Given the description of an element on the screen output the (x, y) to click on. 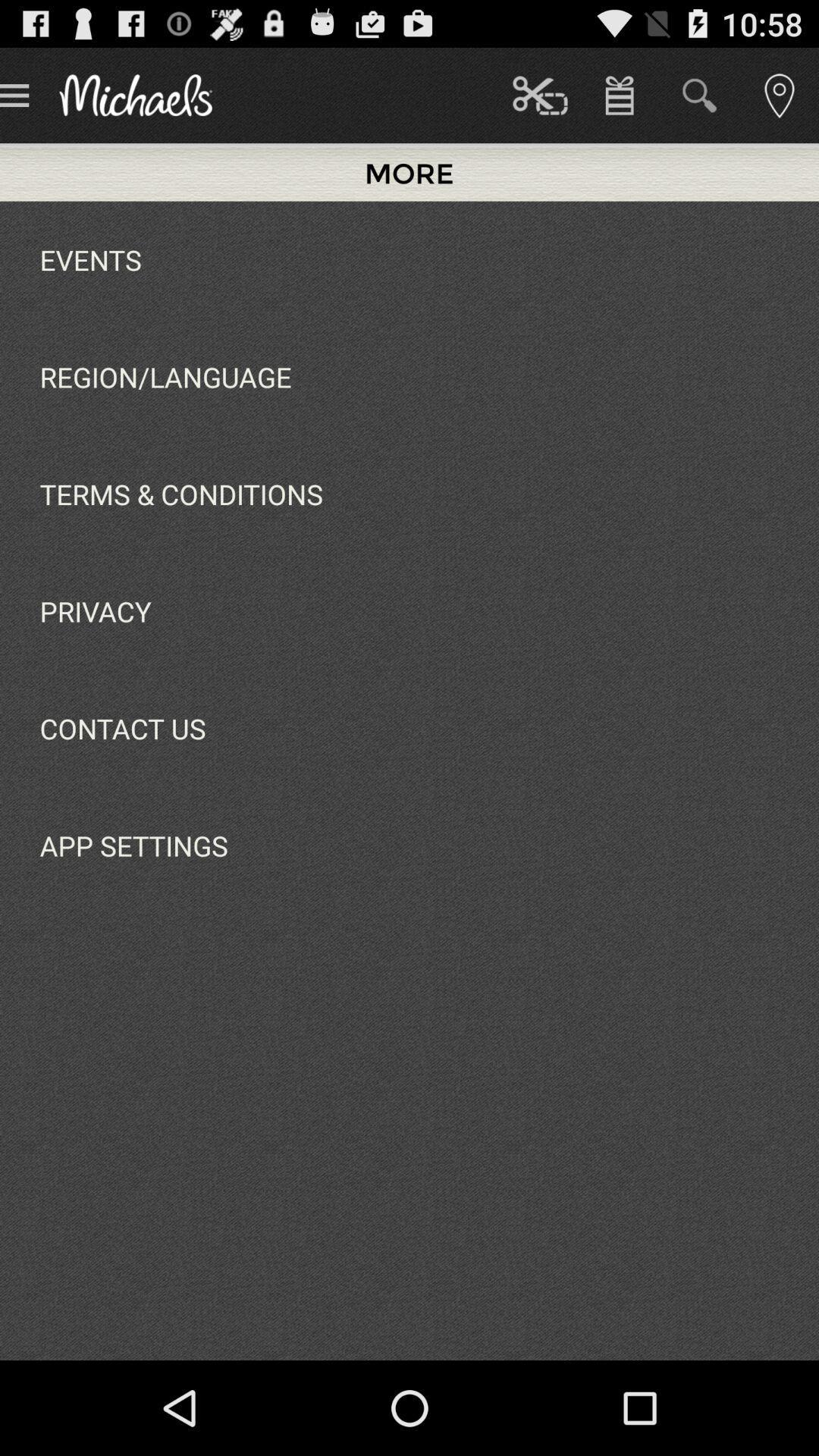
flip until the privacy app (95, 611)
